Given the description of an element on the screen output the (x, y) to click on. 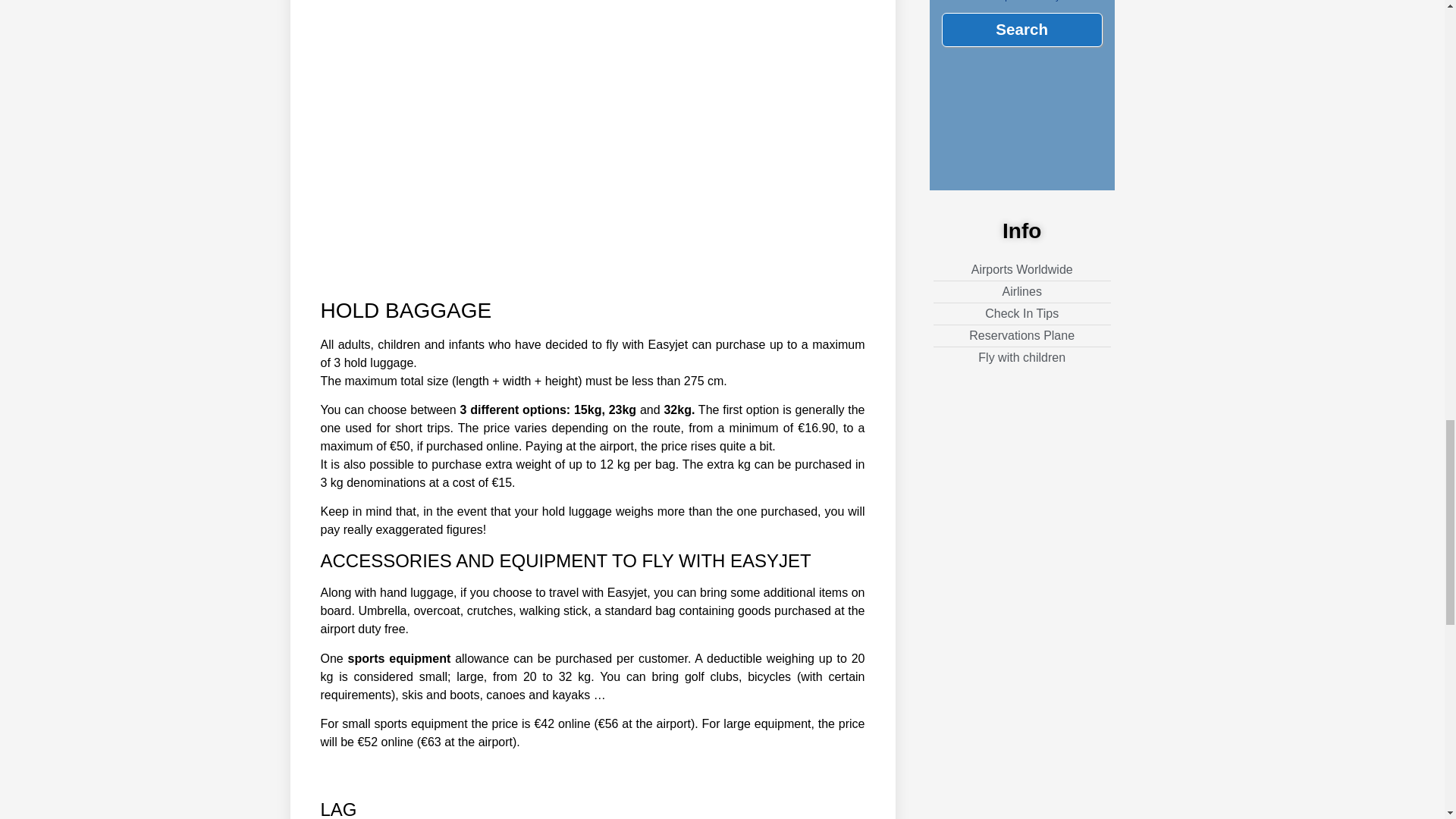
Search (1022, 28)
